Given the description of an element on the screen output the (x, y) to click on. 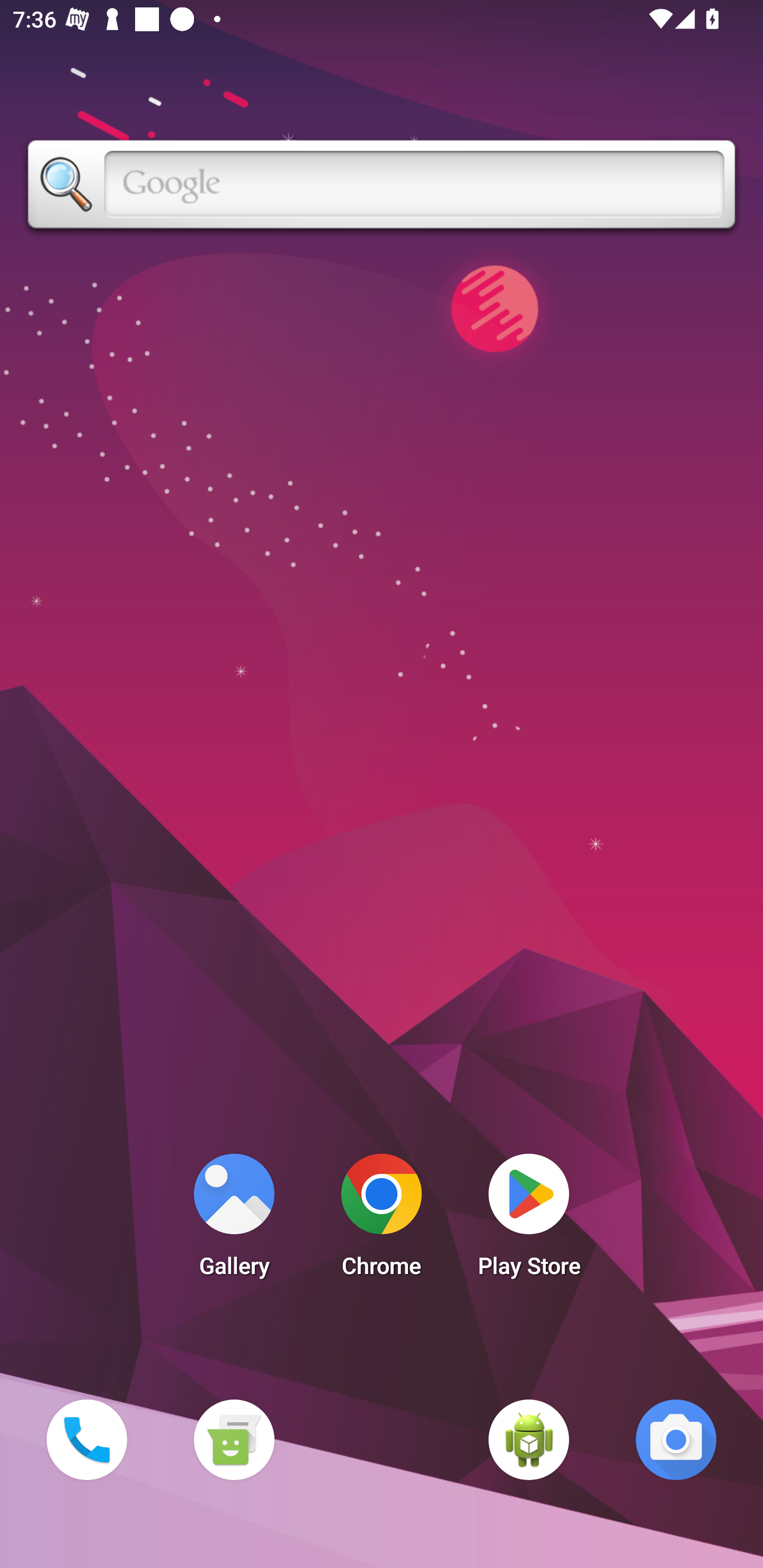
Gallery (233, 1220)
Chrome (381, 1220)
Play Store (528, 1220)
Phone (86, 1439)
Messaging (233, 1439)
WebView Browser Tester (528, 1439)
Camera (676, 1439)
